Given the description of an element on the screen output the (x, y) to click on. 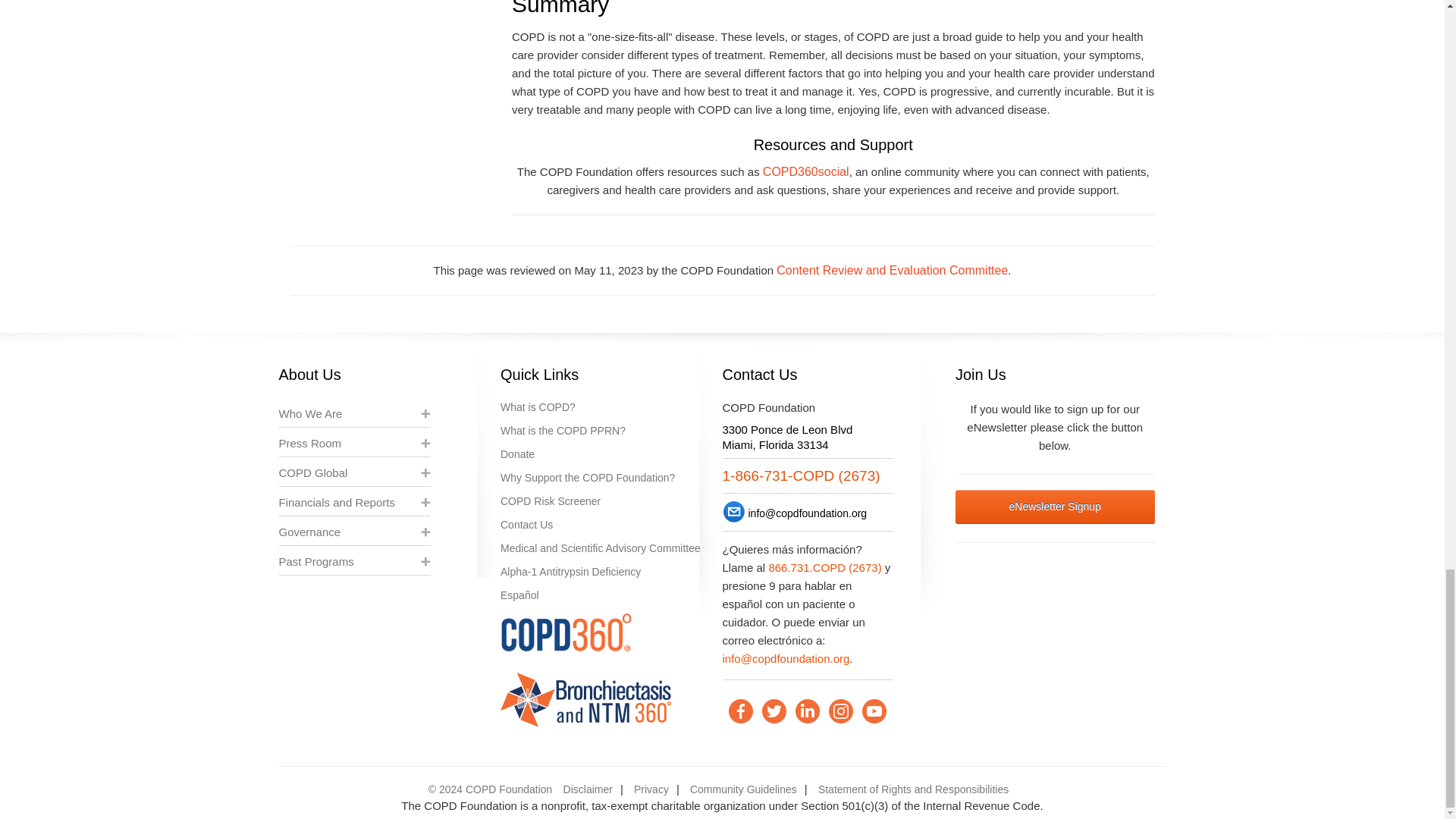
LinkedIn (806, 711)
Instagram (840, 711)
Twitter (773, 711)
YouTube (873, 711)
Facebook (740, 711)
